Given the description of an element on the screen output the (x, y) to click on. 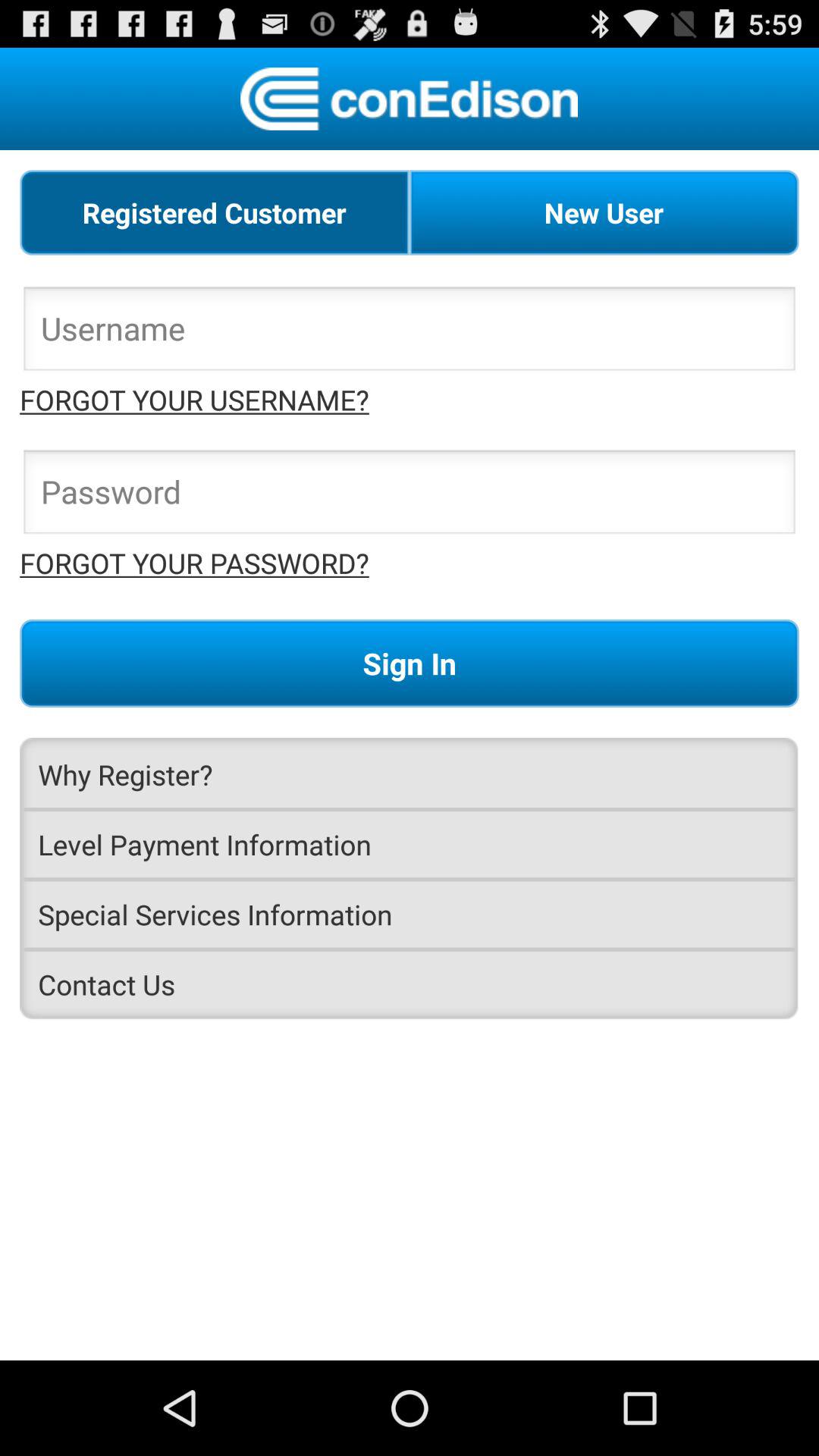
turn off radio button to the left of the new user radio button (214, 212)
